Given the description of an element on the screen output the (x, y) to click on. 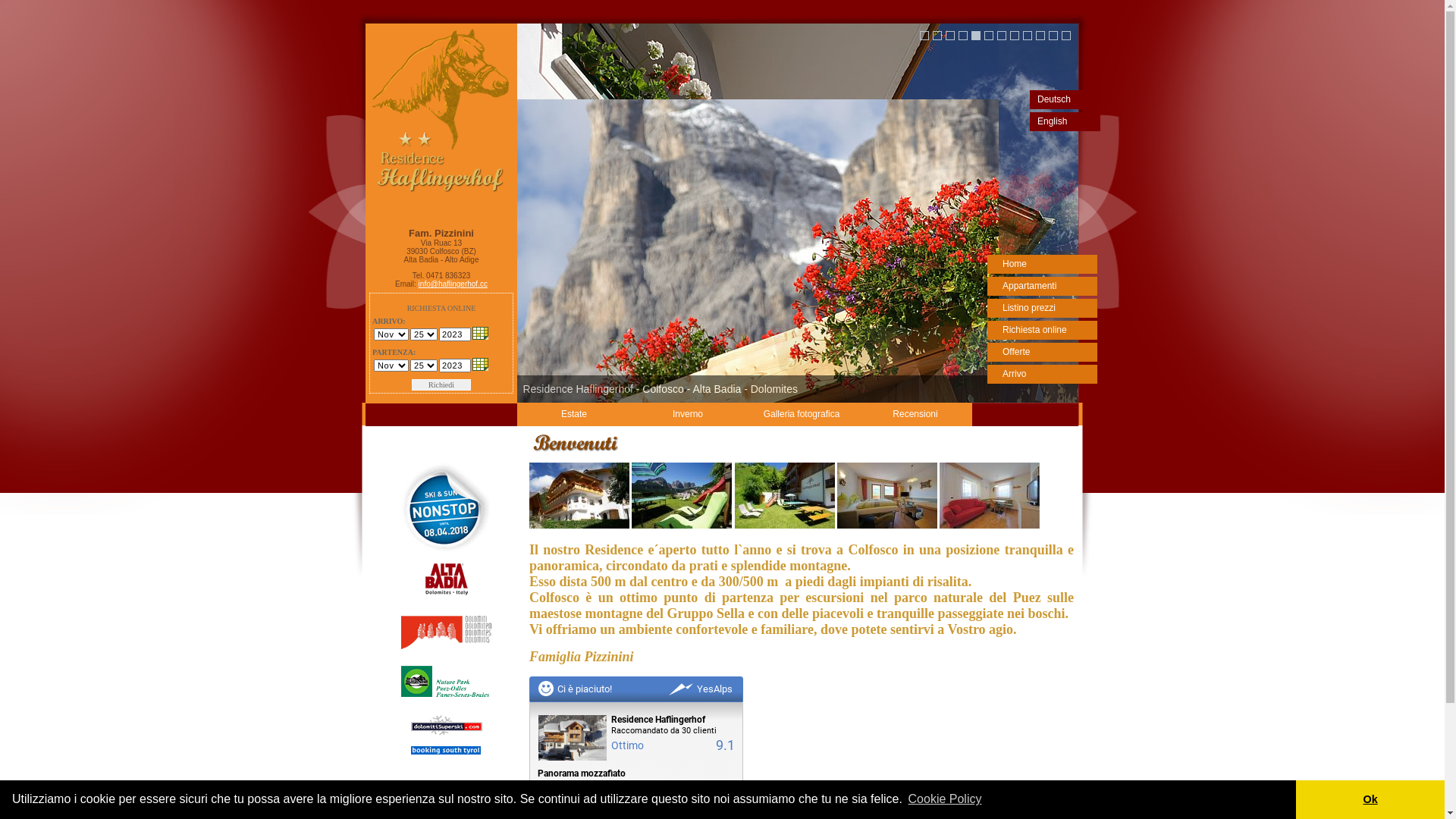
Ottimo Element type: text (672, 745)
English Element type: text (1064, 121)
Calendar Element type: hover (480, 332)
Home Element type: text (1042, 263)
Richiesta online Element type: text (1042, 329)
Galleria fotografica Element type: text (801, 414)
App. 3 Element type: hover (989, 525)
Offerte Element type: text (1042, 351)
Residence Haflingerhof - Colfosco -  Alta Badia - Dolomites Element type: hover (962, 35)
Raccomandato da 30 clienti Element type: text (672, 730)
Arrivo Element type: text (1042, 373)
info@haflingerhof.cc Element type: text (452, 283)
Year Element type: hover (454, 365)
Residence Haflingerhof - Colfosco -  Alta Badia - Dolomites Element type: hover (988, 35)
Residence Haflingerhof - Colfosco -  Alta Badia - Dolomites Element type: hover (923, 35)
Residence Haflingerhof - Colfosco -  Alta Badia - Dolomites Element type: hover (975, 35)
Appartamenti Element type: text (1042, 285)
Residence Haflingerhof - Colfosco -  Alta Badia - Dolomites Element type: hover (1001, 35)
Residence Haflingerhof - Colfosco -  Alta Badia - Dolomites Element type: hover (1052, 35)
Residence Haflingerhof - Colfosco -  Alta Badia - Dolomites Element type: hover (1027, 35)
Recensioni Element type: text (915, 414)
Residence Haflingerhof - Colfosco -  Alta Badia - Dolomites Element type: hover (1065, 35)
Residence Haflingerhof - Colfosco -  Alta Badia - Dolomites Element type: hover (1014, 35)
Listino prezzi Element type: text (1042, 307)
Residence Haflingerhof - Colfosco -  Alta Badia - Dolomites Element type: hover (936, 35)
Residence Haflingerhof - Colfosco -  Alta Badia - Dolomites Element type: hover (949, 35)
YesAlps Element type: text (700, 688)
Residence Haflingerhof ** Element type: hover (579, 525)
      Richiedi       Element type: text (440, 384)
Sala Soggiorno / Aufenthaltsraum Element type: hover (681, 525)
Deutsch Element type: text (1064, 99)
Residence Haflingerhof - Colfosco -  Alta Badia - Dolomites Element type: hover (797, 212)
9.1 Element type: text (724, 744)
Inverno Element type: text (687, 414)
Sala Soggiorno / Aufenthaltsraum Element type: hover (784, 525)
App. 4 Element type: hover (887, 525)
Year Element type: hover (454, 334)
Cookie Policy Element type: text (944, 798)
Calendar Element type: hover (480, 363)
Residence Haflingerhof - Colfosco -  Alta Badia - Dolomites Element type: hover (1039, 35)
Estate Element type: text (573, 414)
